Given the description of an element on the screen output the (x, y) to click on. 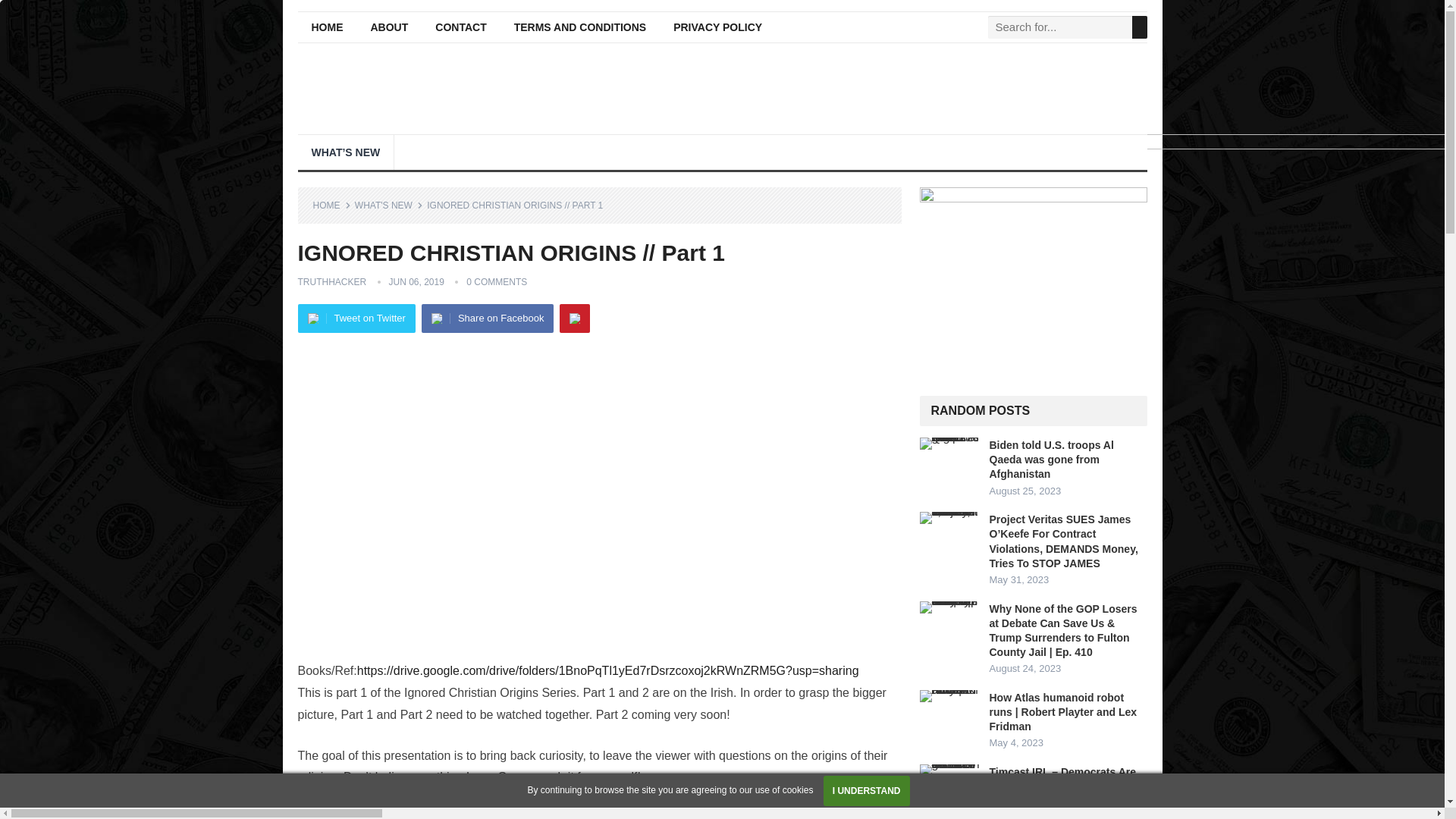
TRUTHHACKER (331, 281)
ABOUT (389, 27)
PRIVACY POLICY (717, 27)
Tweet on Twitter (355, 317)
TERMS AND CONDITIONS (579, 27)
HOME (326, 27)
0 COMMENTS (496, 281)
WHAT'S NEW (389, 204)
CONTACT (460, 27)
Posts by TruthHacker (331, 281)
View all posts in What's New (389, 204)
Pinterest (574, 317)
HOME (331, 204)
Share on Facebook (487, 317)
